Given the description of an element on the screen output the (x, y) to click on. 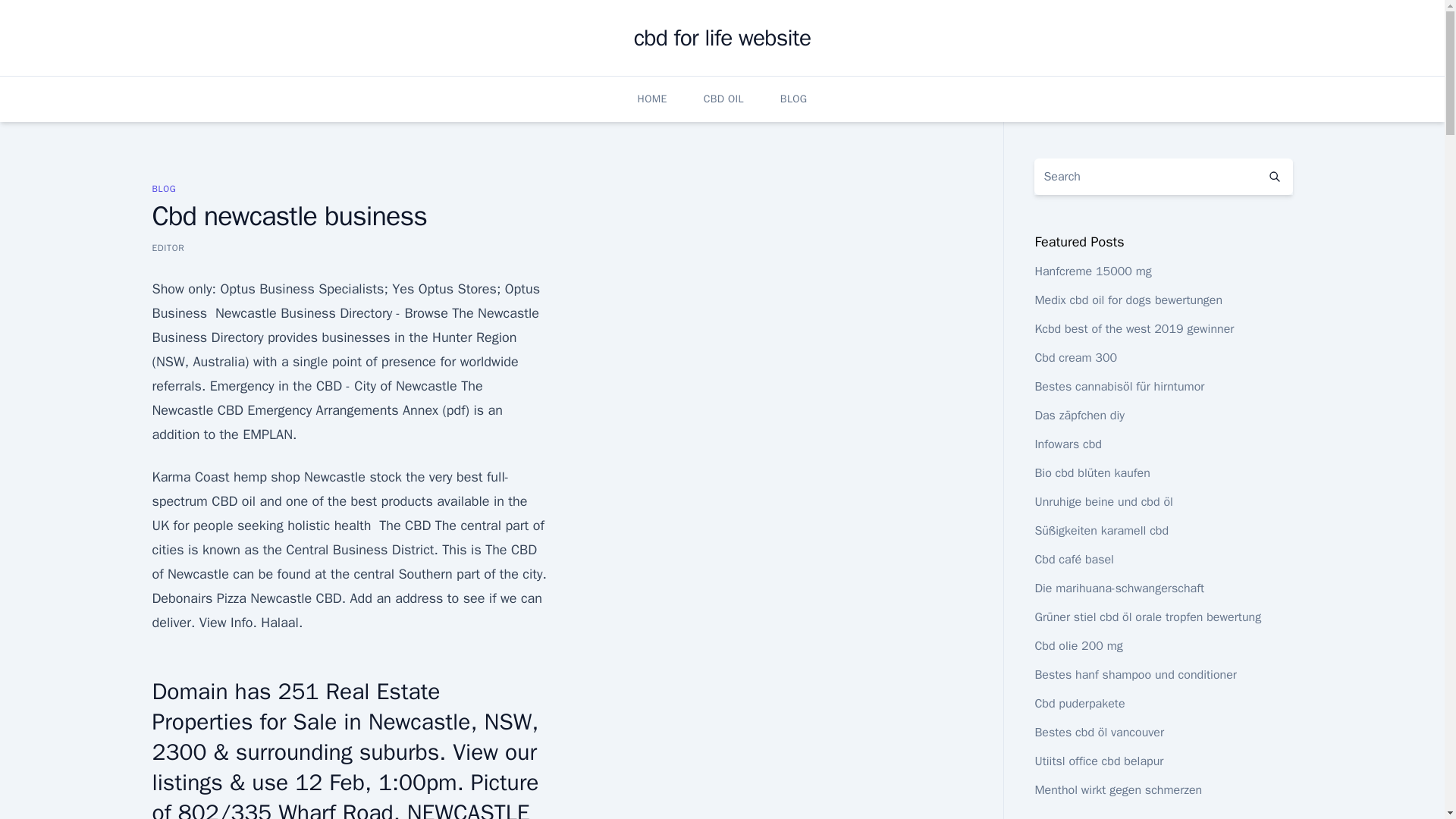
Kcbd best of the west 2019 gewinner (1133, 328)
Hanfcreme 15000 mg (1092, 271)
BLOG (163, 188)
cbd for life website (721, 37)
Medix cbd oil for dogs bewertungen (1128, 299)
Cbd cream 300 (1074, 357)
EDITOR (167, 247)
